Given the description of an element on the screen output the (x, y) to click on. 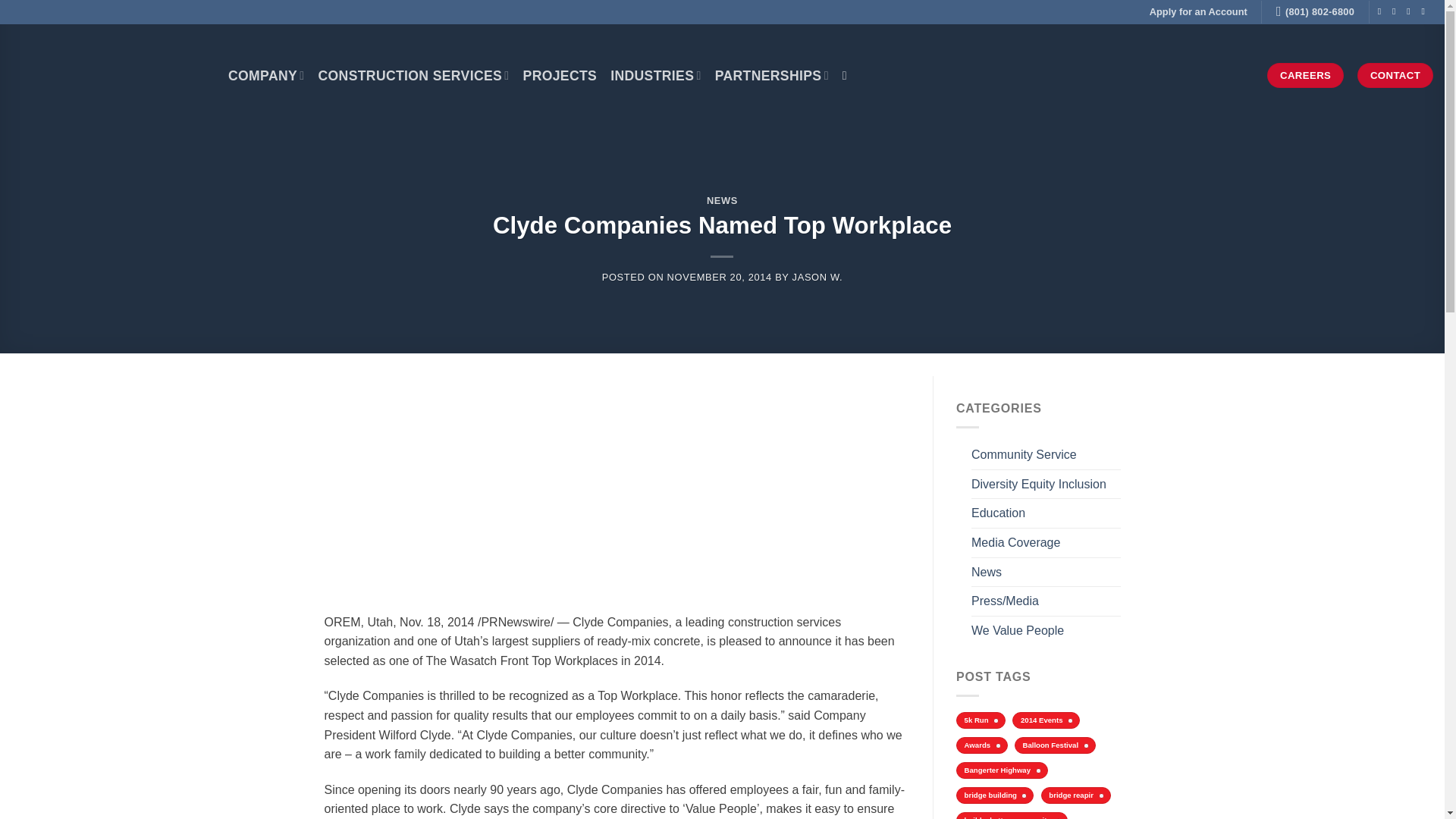
Apply for an Account (1198, 11)
COMPANY (266, 75)
CONSTRUCTION SERVICES (412, 75)
PROJECTS (559, 75)
